Given the description of an element on the screen output the (x, y) to click on. 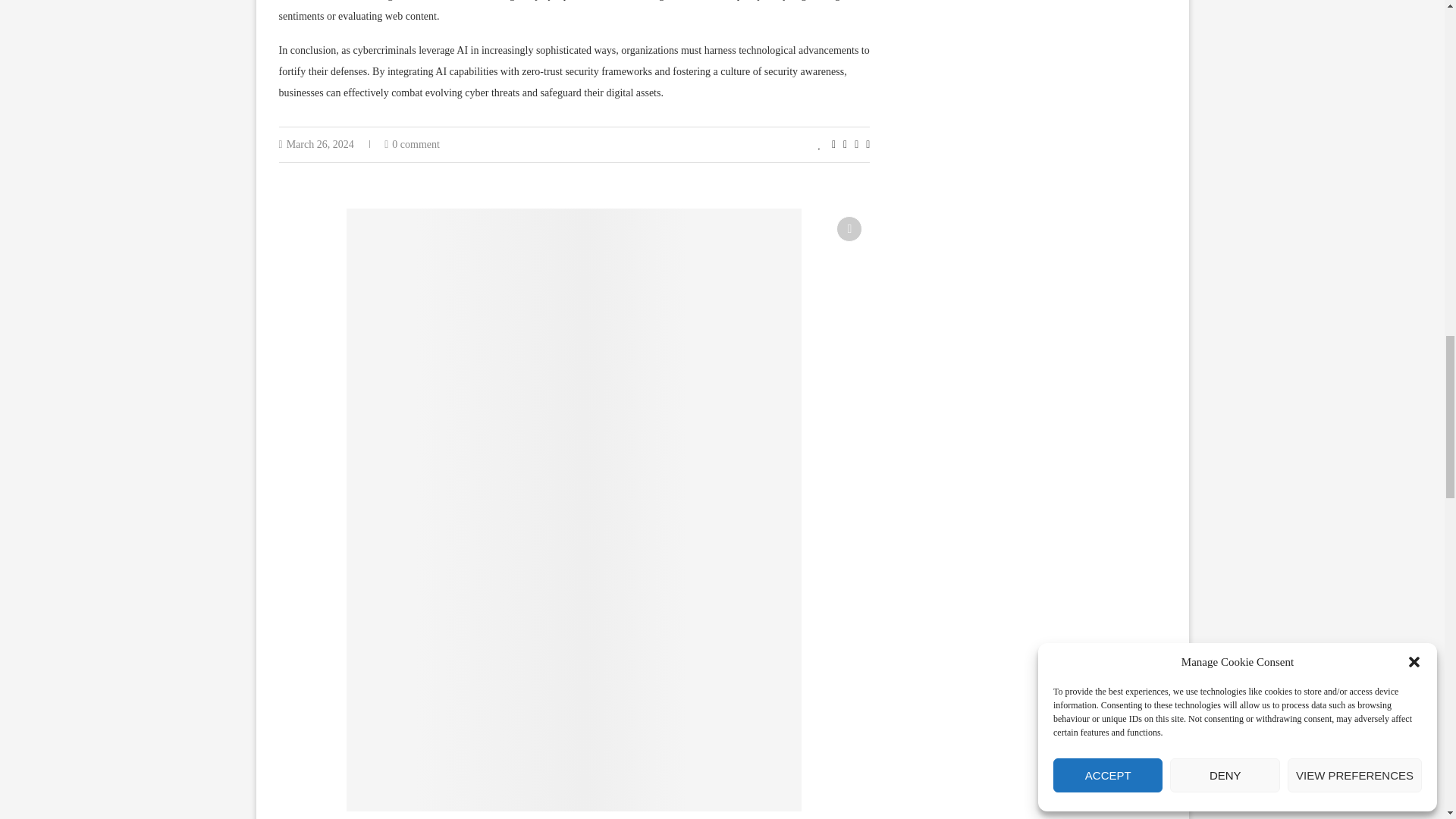
Like (820, 144)
